Given the description of an element on the screen output the (x, y) to click on. 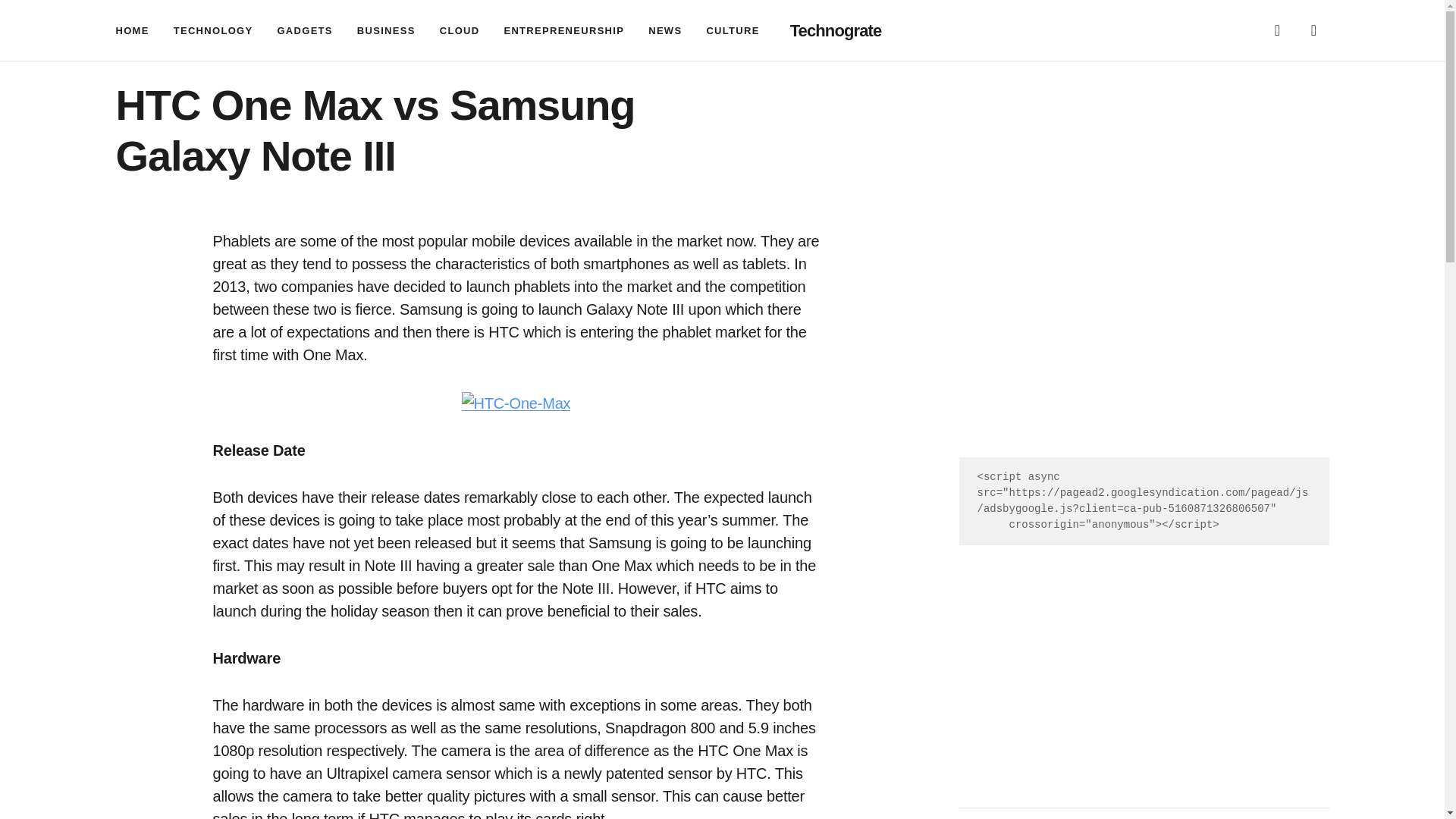
Advertisement (1142, 343)
Advertisement (1142, 663)
BUSINESS (385, 30)
TECHNOLOGY (213, 30)
GADGETS (303, 30)
Technograte (836, 30)
ENTREPRENEURSHIP (563, 30)
